Given the description of an element on the screen output the (x, y) to click on. 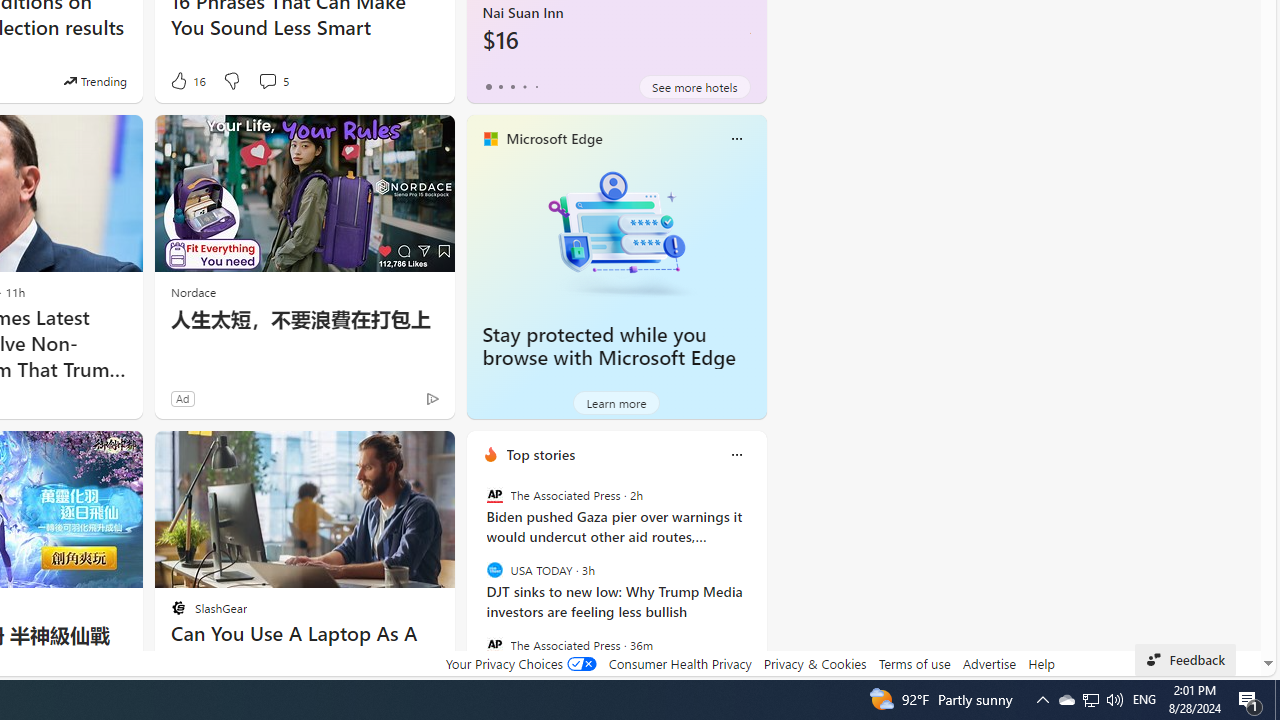
View comments 5 Comment (272, 80)
next (756, 583)
Privacy & Cookies (814, 663)
tab-3 (524, 86)
See more hotels (694, 86)
USA TODAY (494, 570)
